Given the description of an element on the screen output the (x, y) to click on. 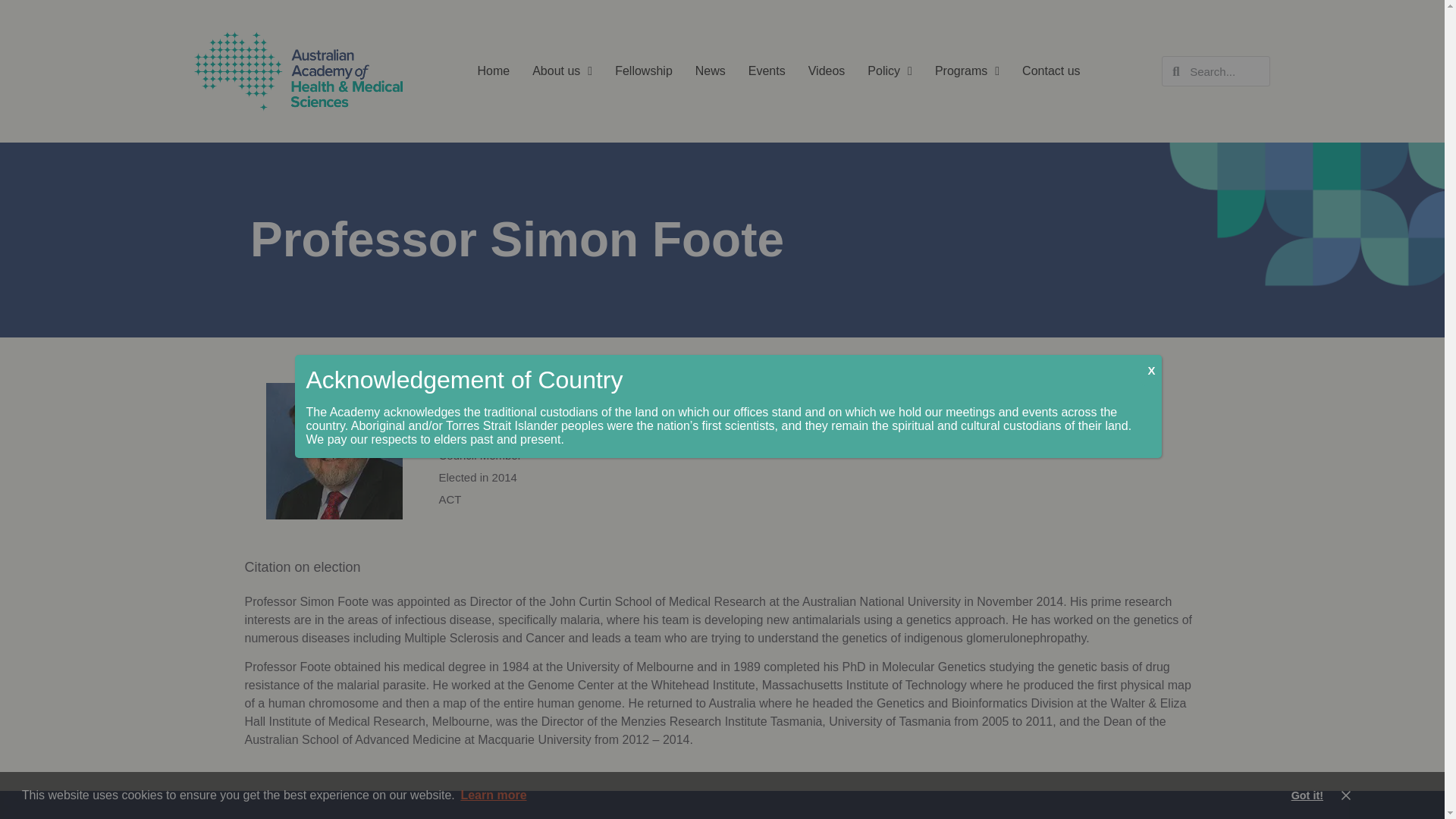
Home (494, 71)
Policy (889, 71)
Got it! (1307, 795)
Events (767, 71)
Fellowship (643, 71)
Contact us (1051, 71)
Learn more (493, 794)
Videos (826, 71)
About us (562, 71)
Programs (966, 71)
